Given the description of an element on the screen output the (x, y) to click on. 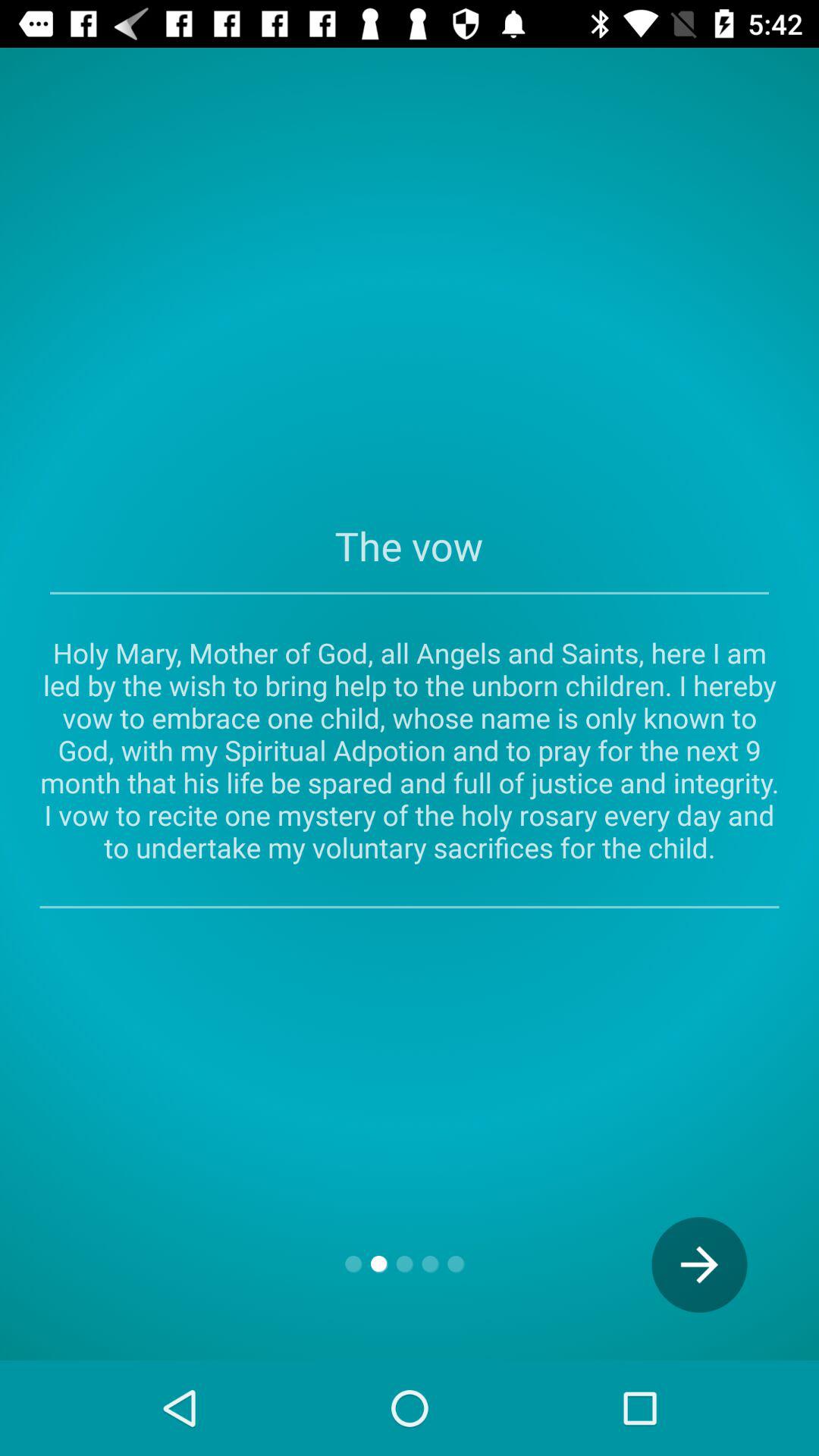
click the icon at the bottom right corner (699, 1264)
